Given the description of an element on the screen output the (x, y) to click on. 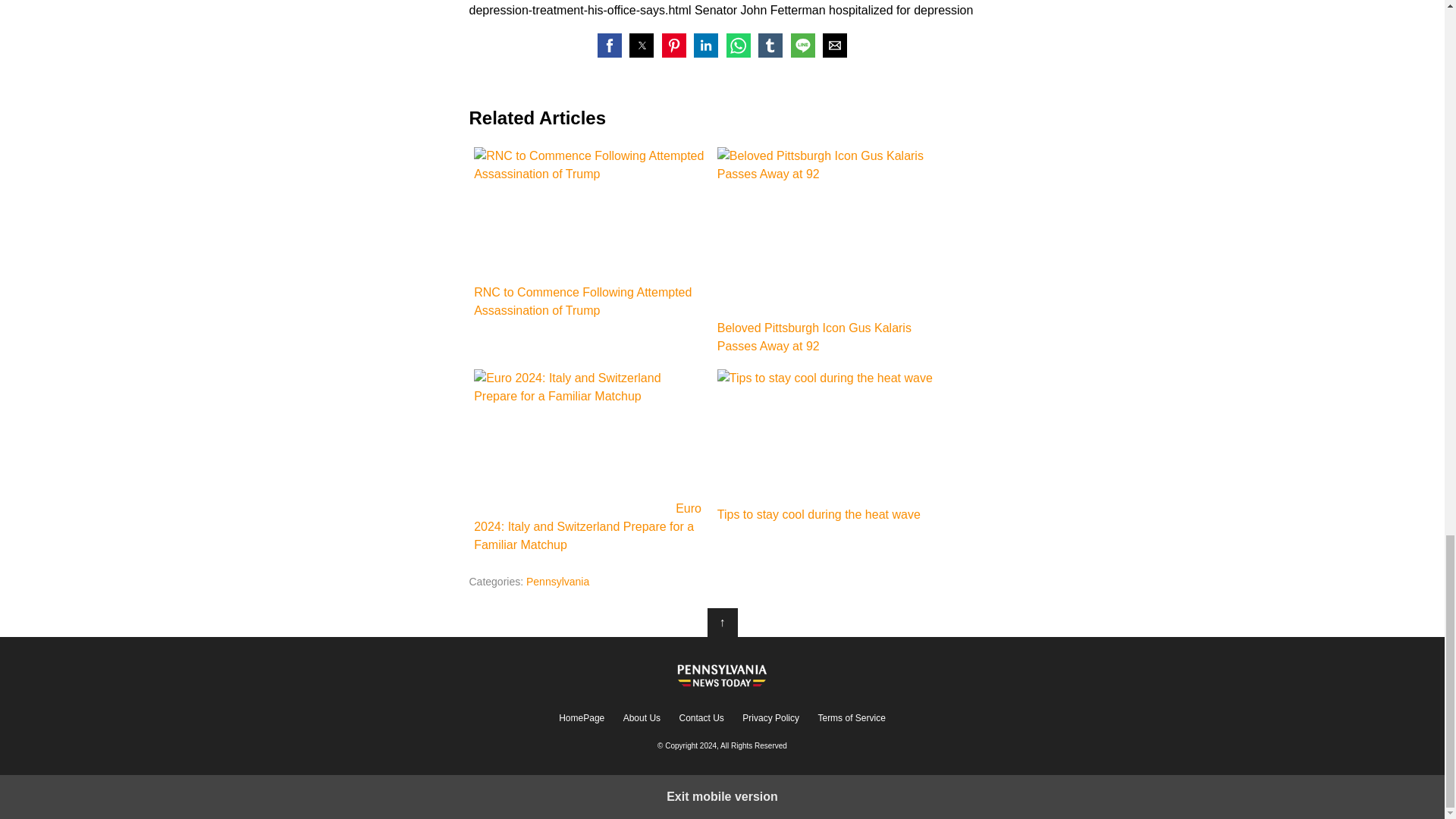
Beloved Pittsburgh Icon Gus Kalaris Passes Away at 92 (829, 230)
Contact Us (701, 717)
Tips to stay cool during the heat wave (833, 446)
RNC to Commence Following Attempted Assassination of Trump (590, 233)
Pennsylvanianewstoday.com (721, 673)
Tips to stay cool during the heat wave (833, 434)
Beloved Pittsburgh Icon Gus Kalaris Passes Away at 92 (833, 251)
RNC to Commence Following Attempted Assassination of Trump (590, 212)
Pennsylvania (557, 581)
